Given the description of an element on the screen output the (x, y) to click on. 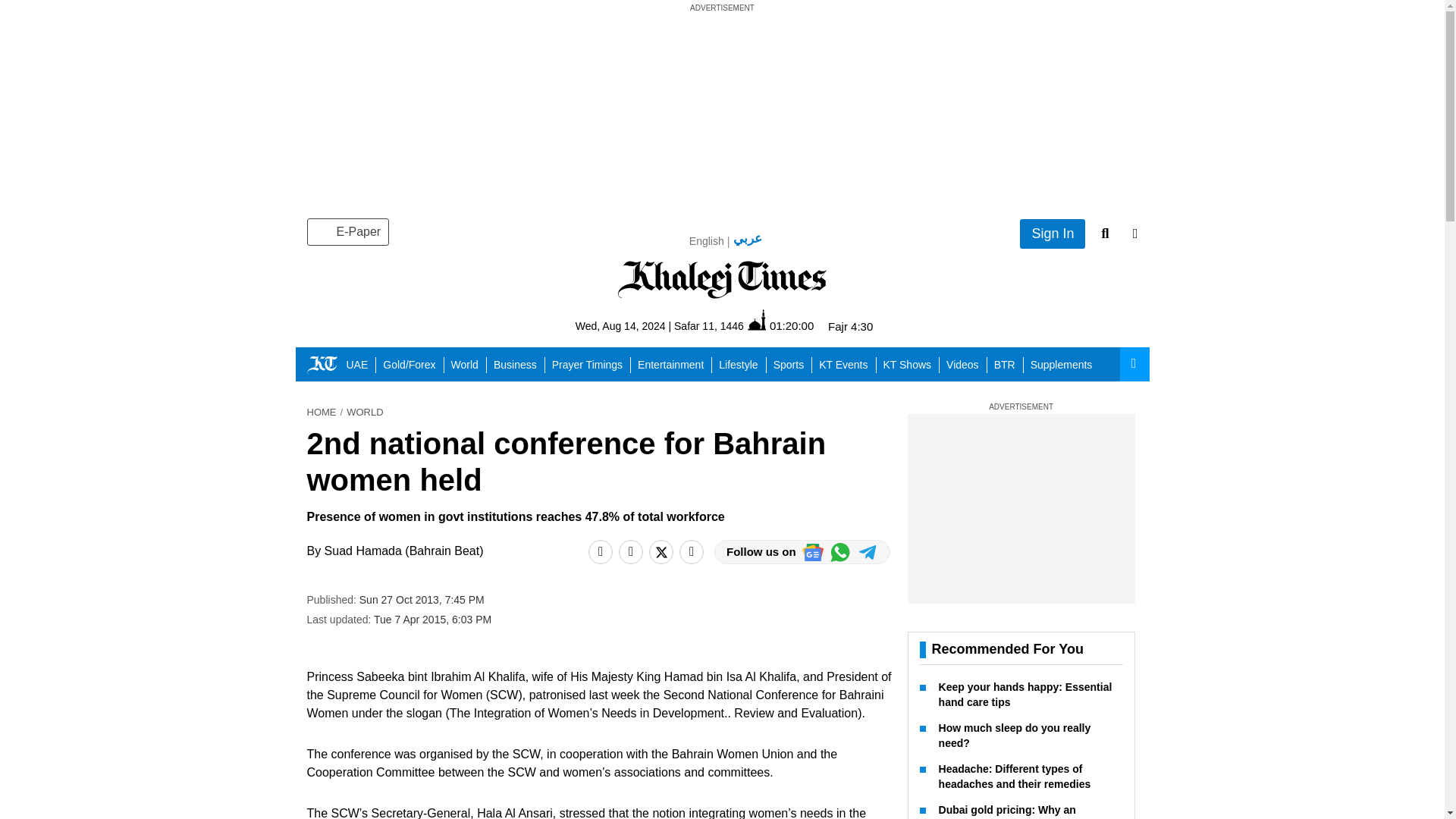
Fajr 4:30 (850, 326)
01:20:00 (780, 324)
E-Paper (346, 231)
Sign In (1052, 233)
